Given the description of an element on the screen output the (x, y) to click on. 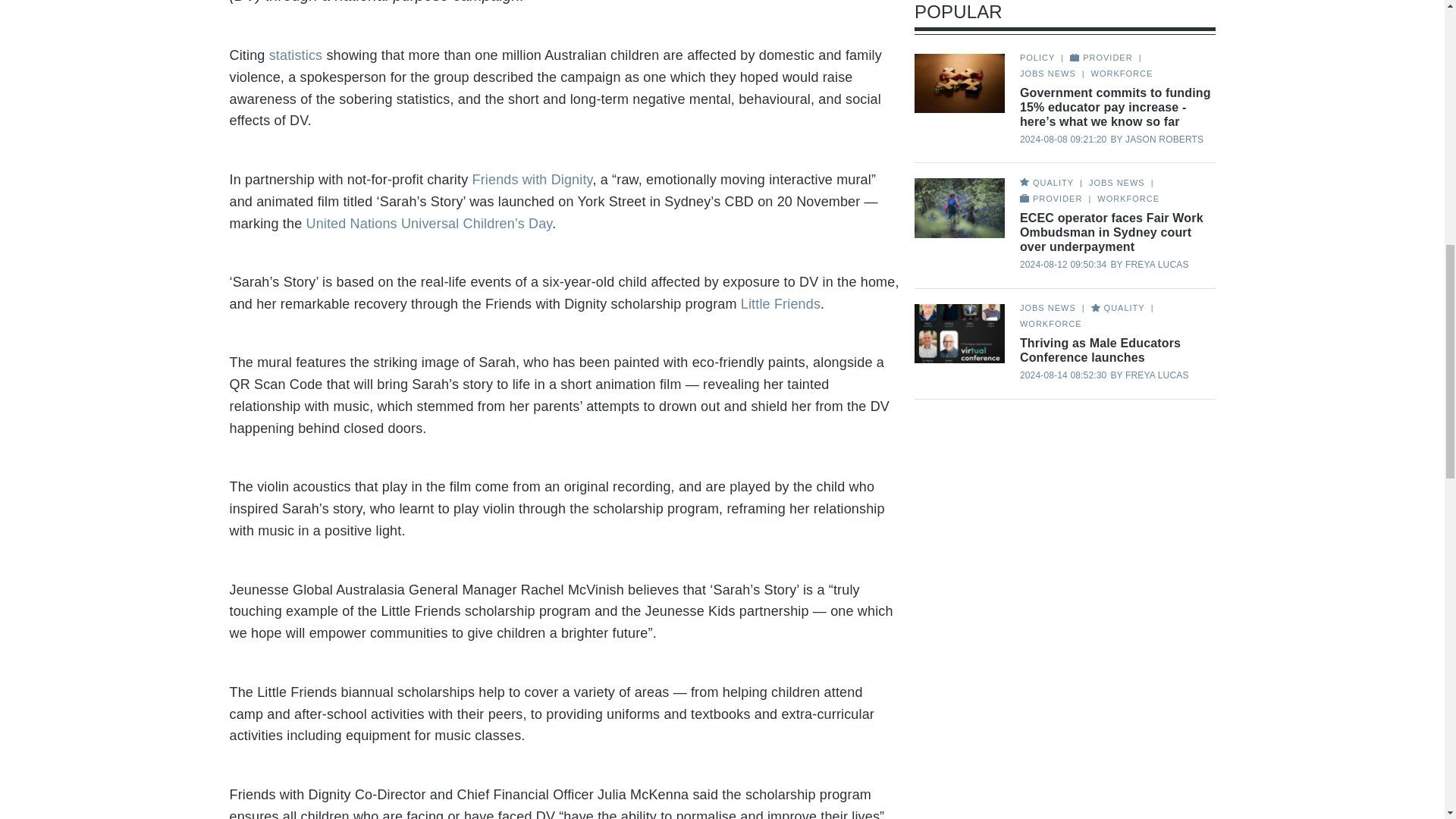
statistics (296, 55)
Little Friends (781, 304)
Friends with Dignity (531, 179)
